Given the description of an element on the screen output the (x, y) to click on. 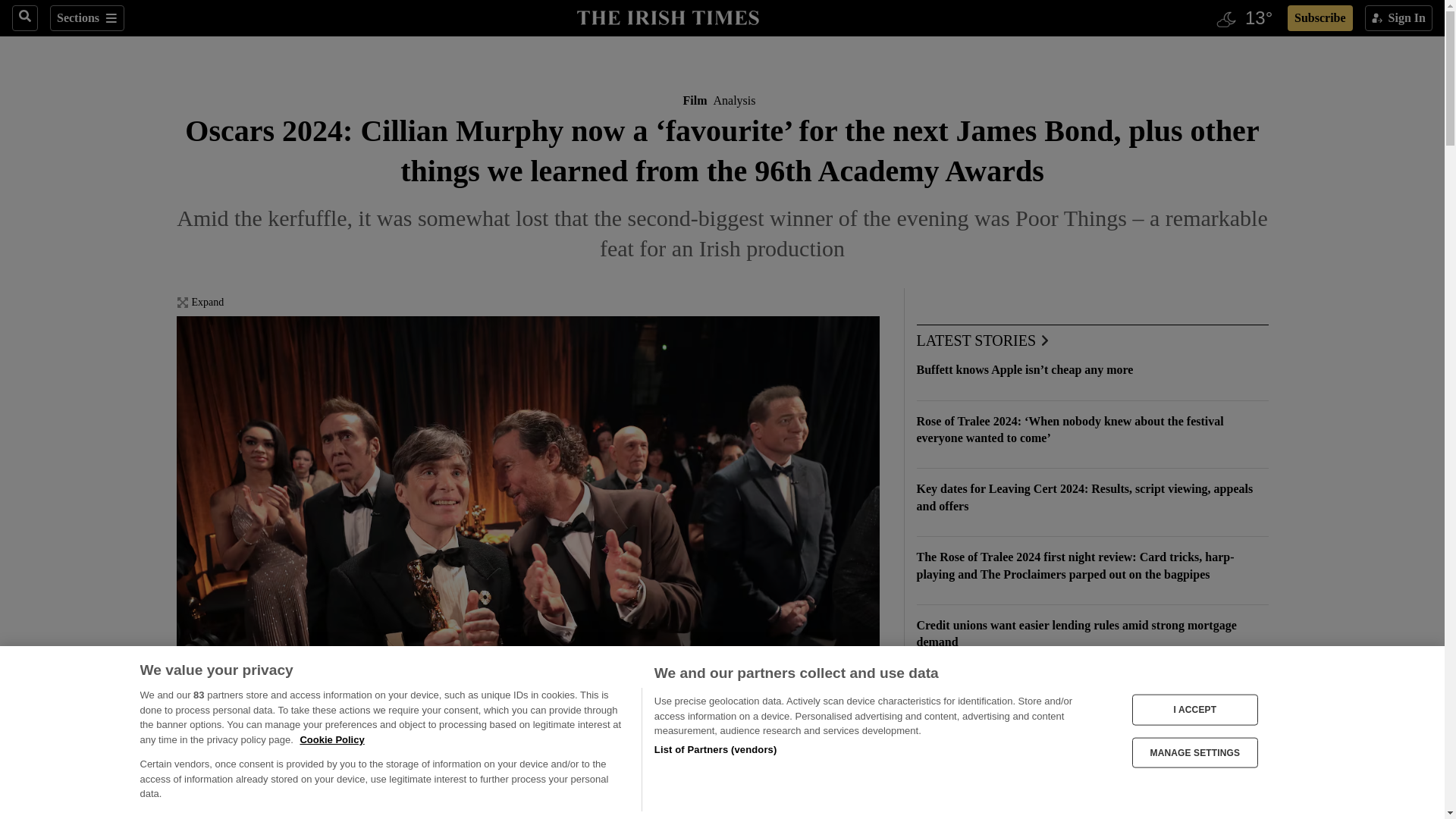
Subscribe (1319, 17)
The Irish Times (667, 16)
Sections (86, 17)
Sign In (1398, 17)
